Given the description of an element on the screen output the (x, y) to click on. 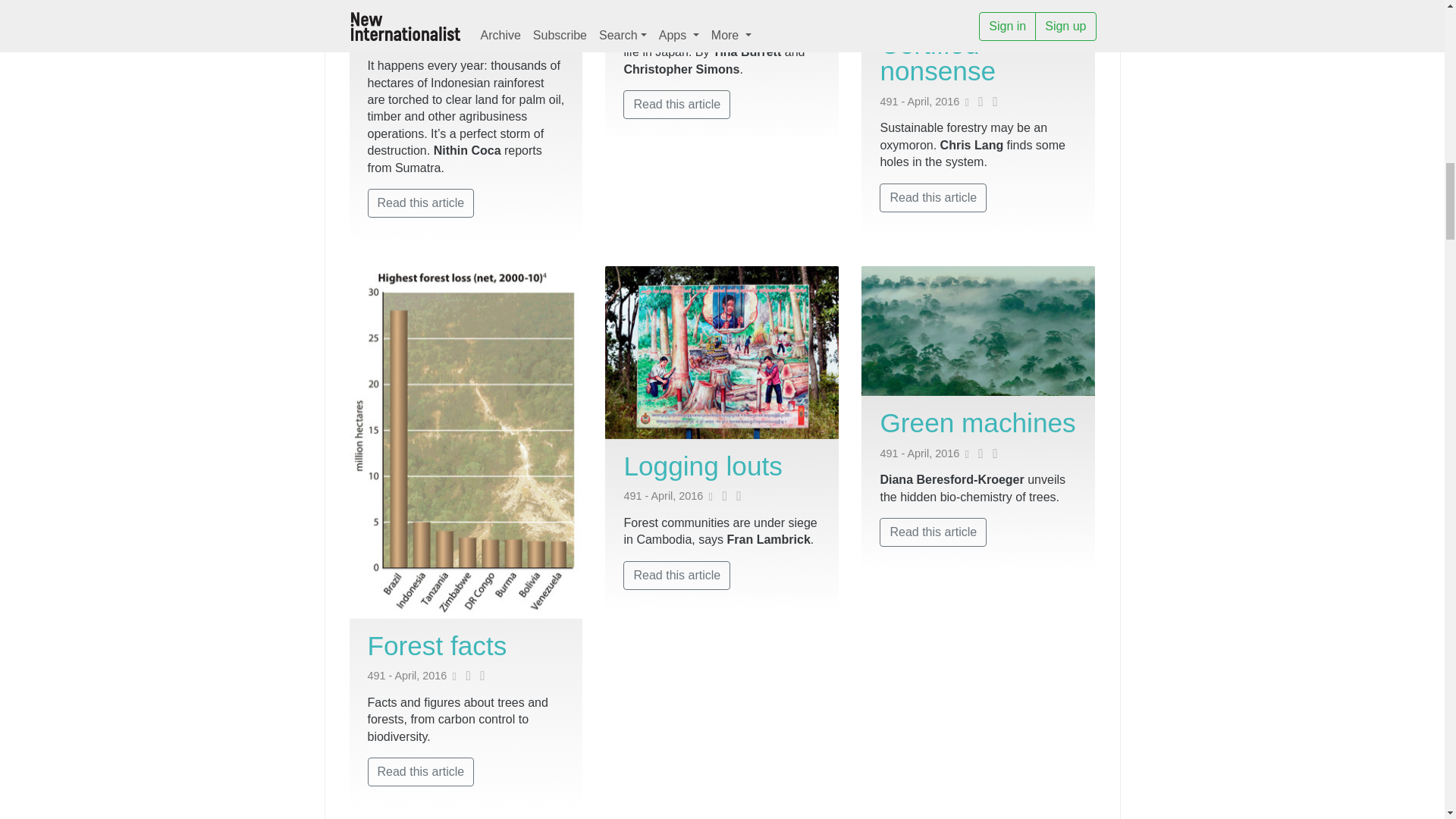
Share this article on Facebook (735, 9)
Tweet about this article (465, 39)
Tweet about this article (721, 9)
Share this article on Facebook (479, 39)
